Given the description of an element on the screen output the (x, y) to click on. 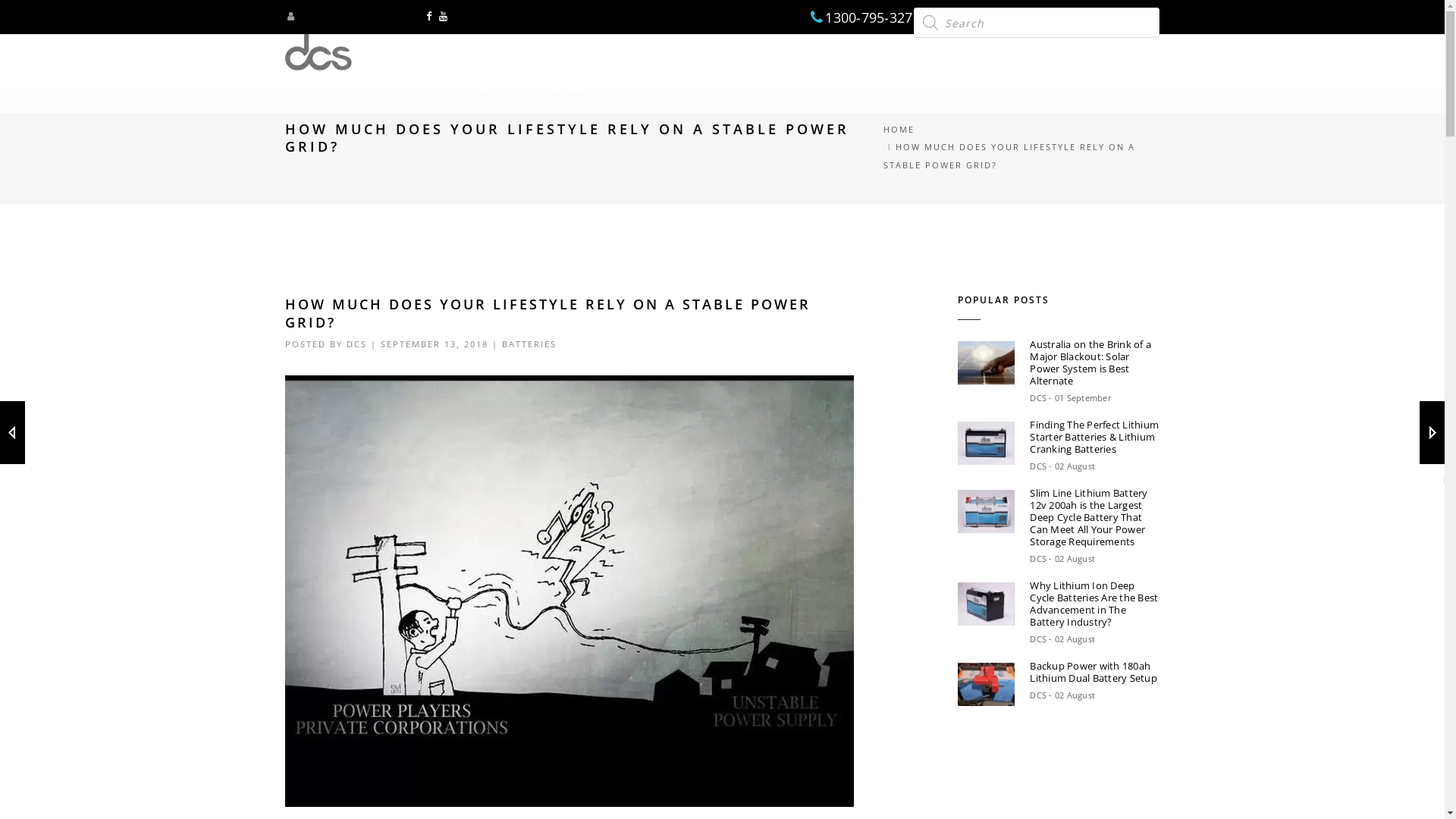
Visit our Store Element type: text (387, 15)
HOME Element type: text (898, 128)
VICTRON Element type: text (470, 91)
HOME Element type: text (463, 49)
FAQ Element type: text (901, 49)
BATTERIES Element type: text (529, 343)
DCS LFP APP Element type: text (550, 91)
(0) ITEM Element type: text (1107, 59)
FREQUENTLY USED COMPONENTS Element type: text (783, 49)
DCS Element type: text (356, 343)
My Account Element type: text (318, 15)
SOLAR SYSTEMS Element type: text (978, 49)
DCS BATTERY TECH Element type: text (552, 49)
BATTERIES Element type: text (650, 49)
1300-795-327 Element type: text (868, 17)
Backup Power with 180ah Lithium Dual Battery Setup Element type: text (1094, 671)
CONTACT US Element type: text (640, 91)
